Given the description of an element on the screen output the (x, y) to click on. 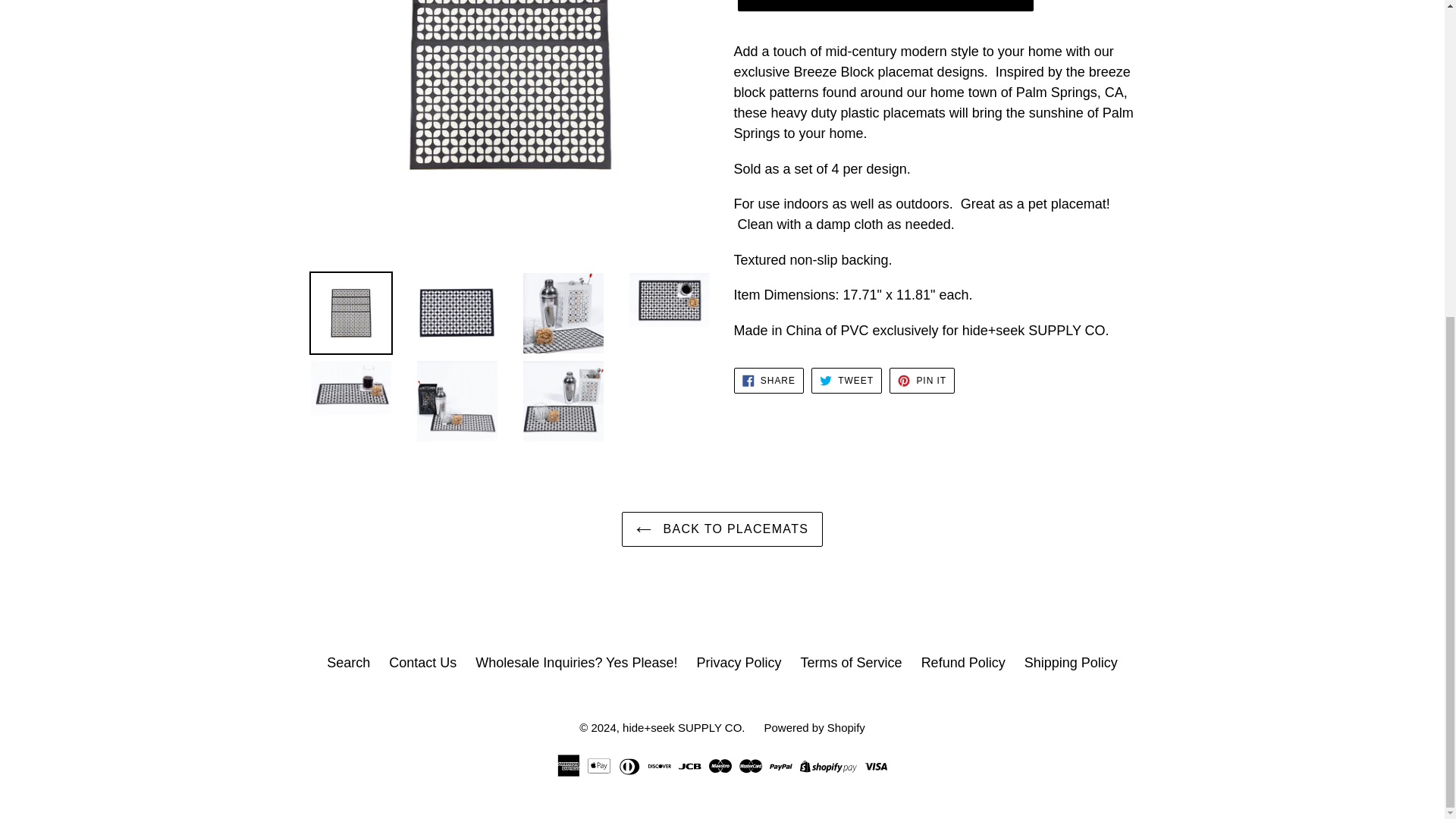
Tweet on Twitter (846, 380)
Share on Facebook (768, 380)
Pin on Pinterest (922, 380)
